Given the description of an element on the screen output the (x, y) to click on. 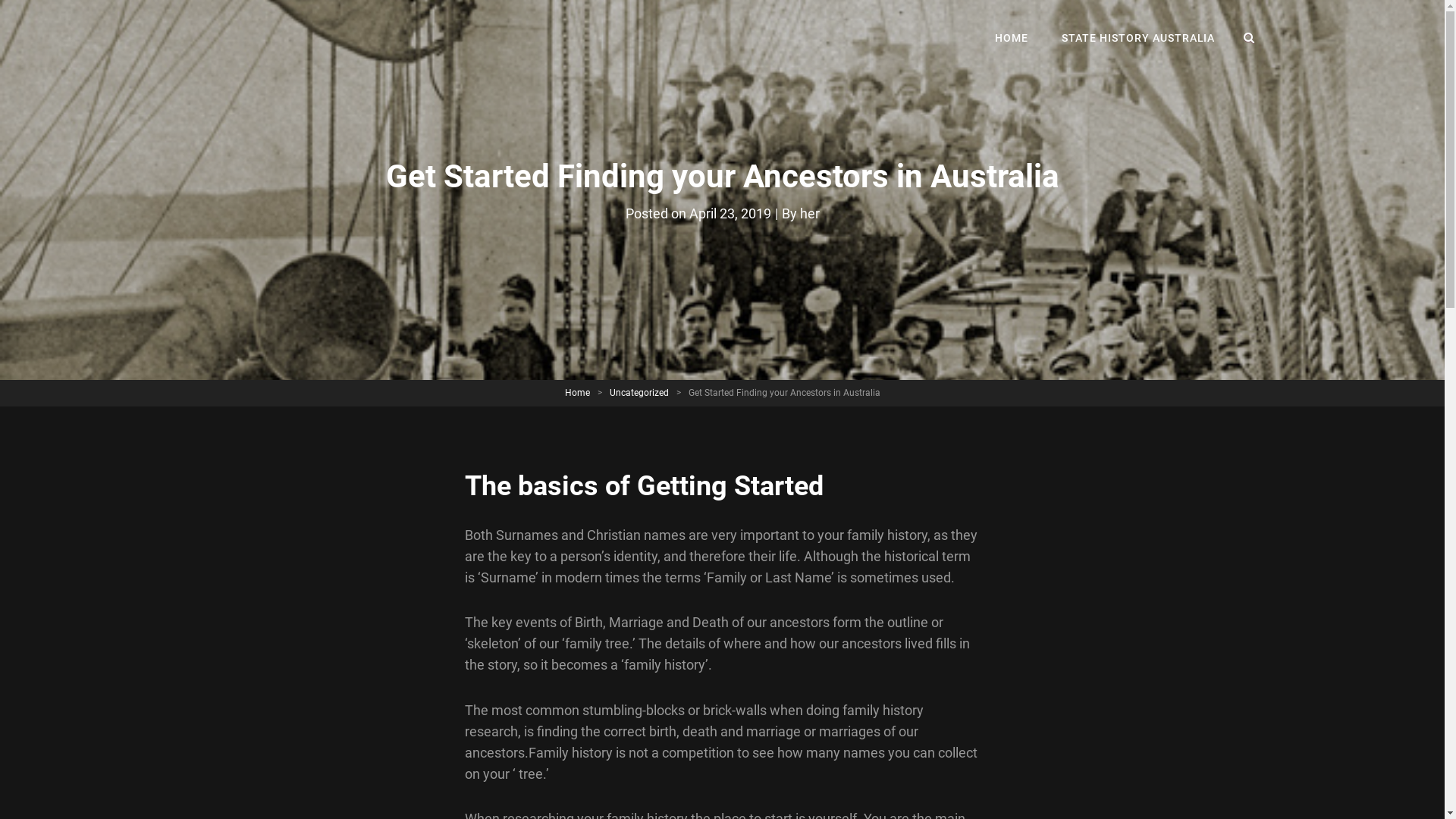
STATE HISTORY AUSTRALIA Element type: text (1138, 37)
My Heritage Australia, family tree, Genealogy Element type: text (431, 52)
Uncategorized Element type: text (638, 392)
her Element type: text (809, 213)
SEARCH Element type: text (1249, 37)
Home Element type: text (576, 392)
April 23, 2019 Element type: text (729, 213)
HOME Element type: text (1011, 37)
